Given the description of an element on the screen output the (x, y) to click on. 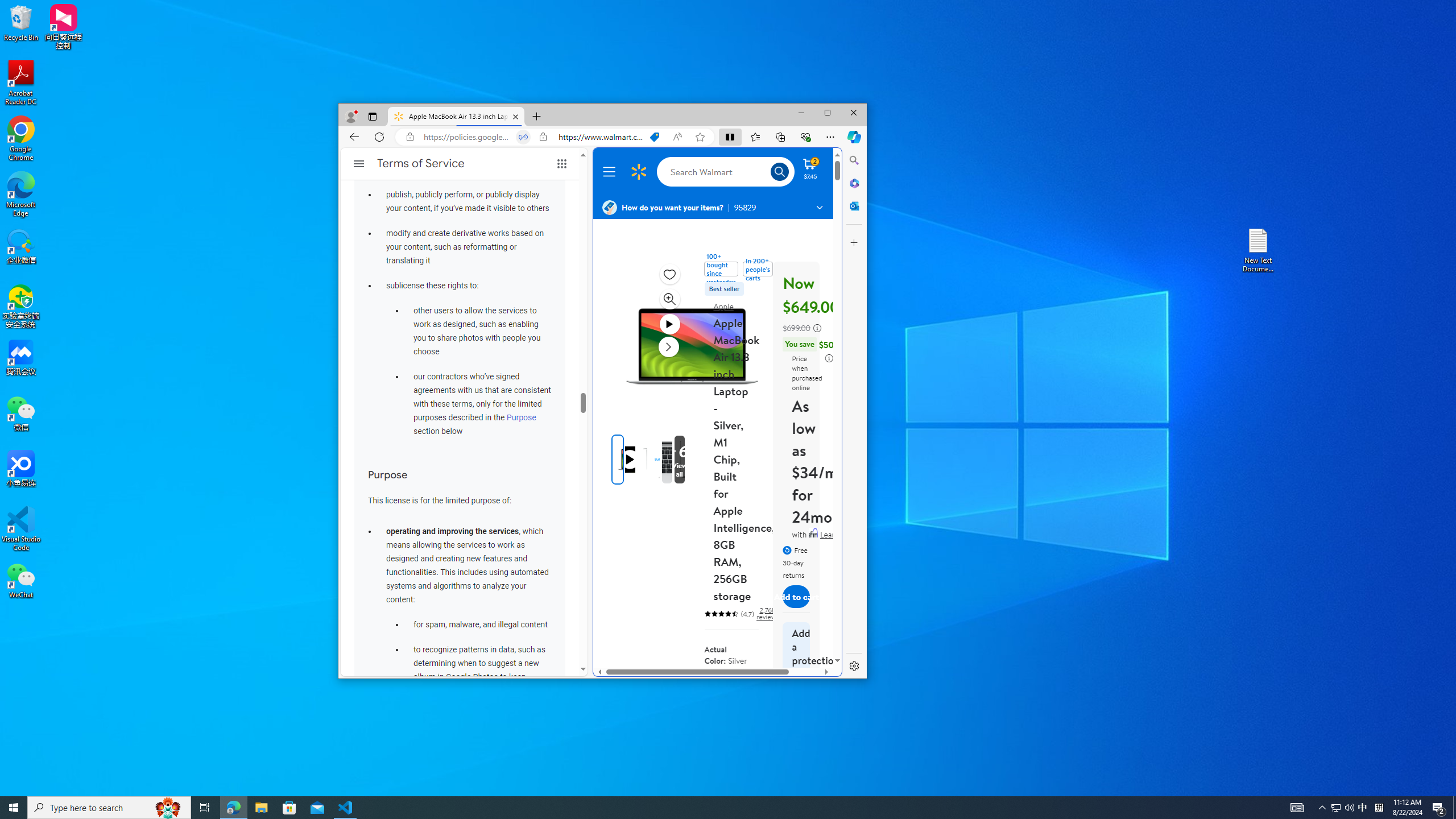
WeChat (21, 580)
User Promoted Notification Area (1342, 807)
Cart contains 2 items Total Amount $7.45 (810, 168)
Recycle Bin (21, 22)
View all media (679, 459)
Silver (745, 684)
Search highlights icon opens search home window (167, 807)
Close Search pane (854, 159)
Affirm (813, 532)
